Given the description of an element on the screen output the (x, y) to click on. 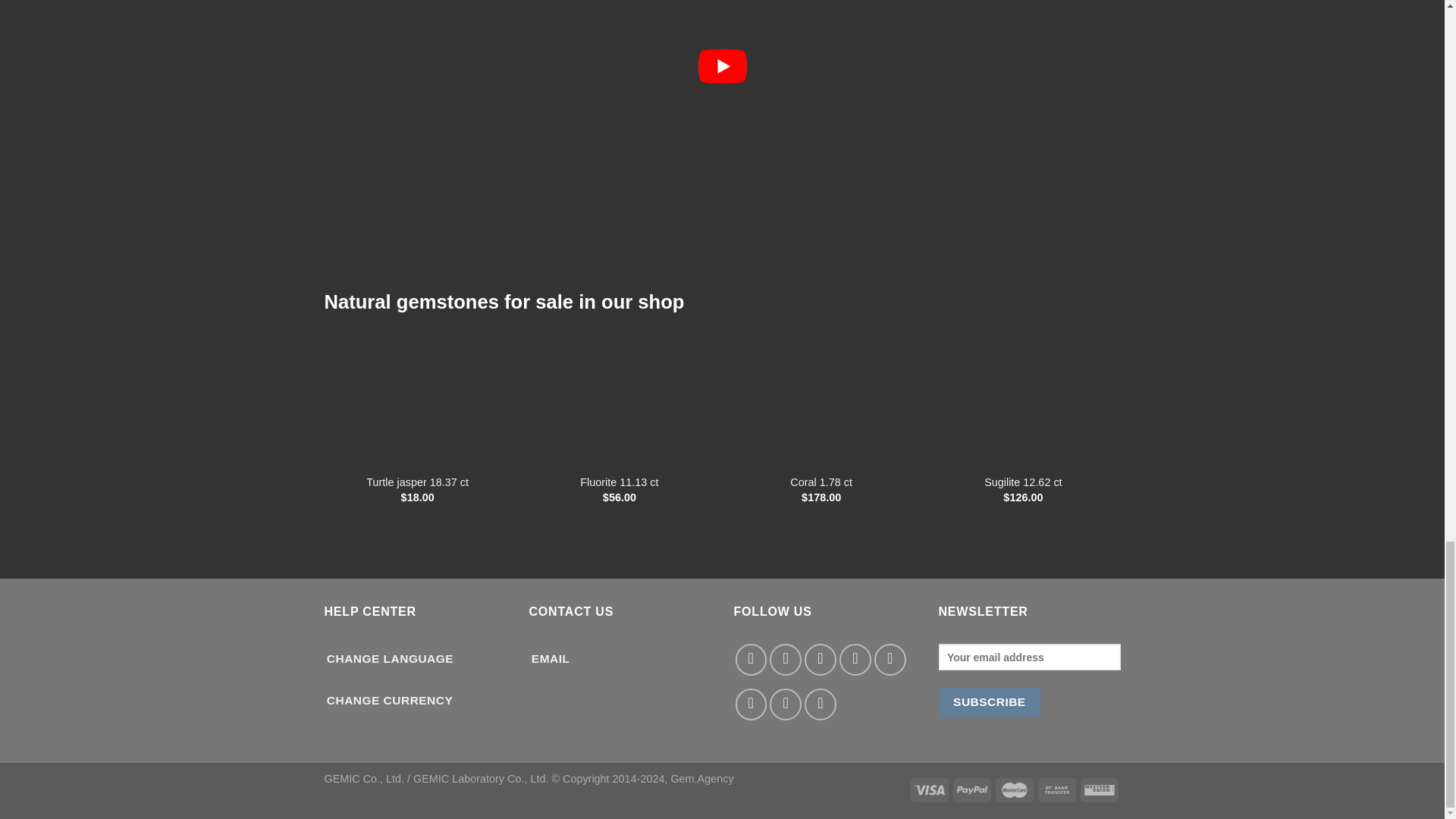
Man-made glass (417, 393)
Man-made glass (1023, 393)
Subscribe (990, 701)
Man-made glass (619, 393)
Man-made glass (821, 393)
